Given the description of an element on the screen output the (x, y) to click on. 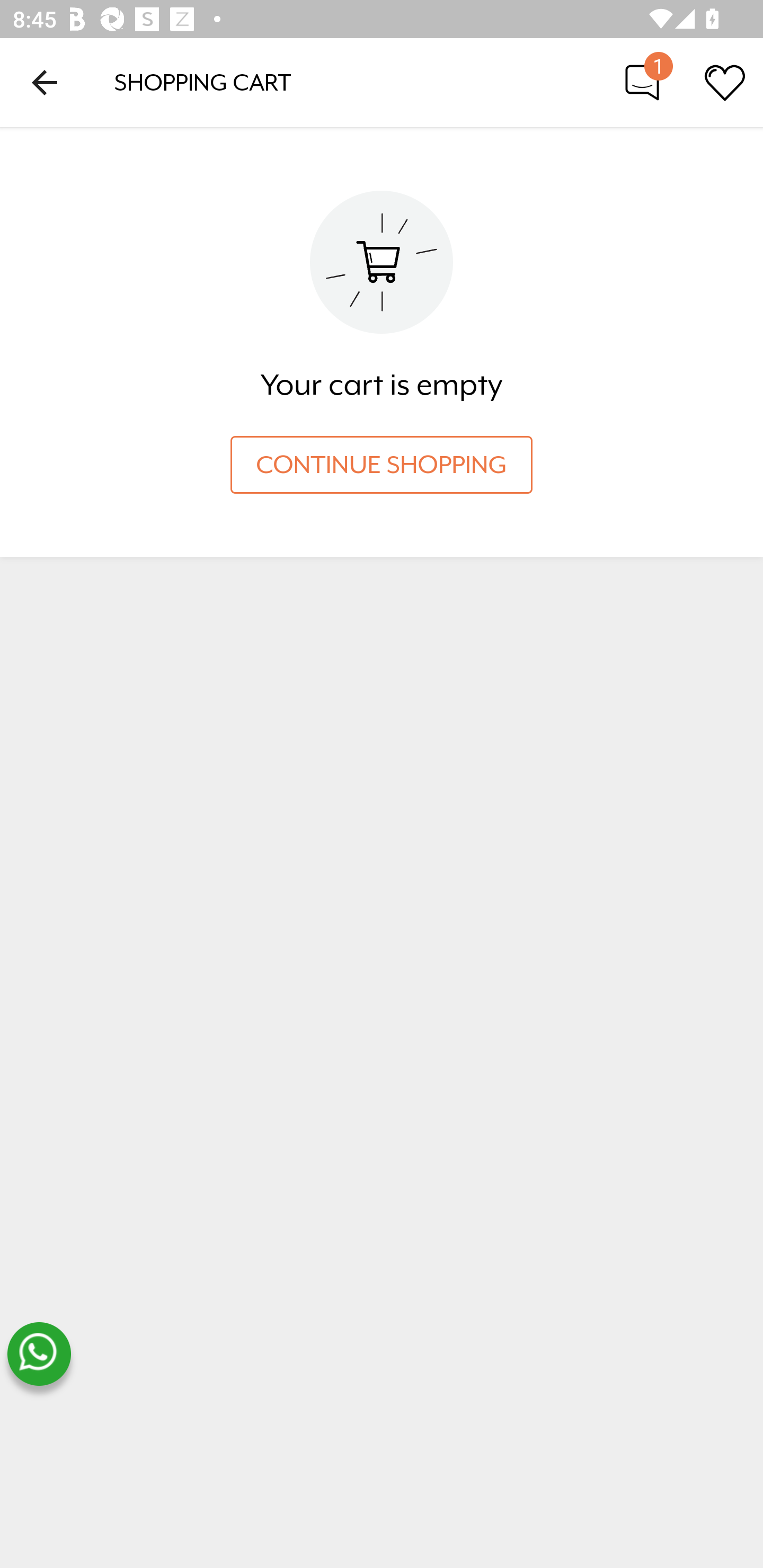
Navigate up (44, 82)
Chat (641, 81)
Wishlist (724, 81)
CONTINUE SHOPPING (381, 464)
whatsapp (38, 1353)
